Given the description of an element on the screen output the (x, y) to click on. 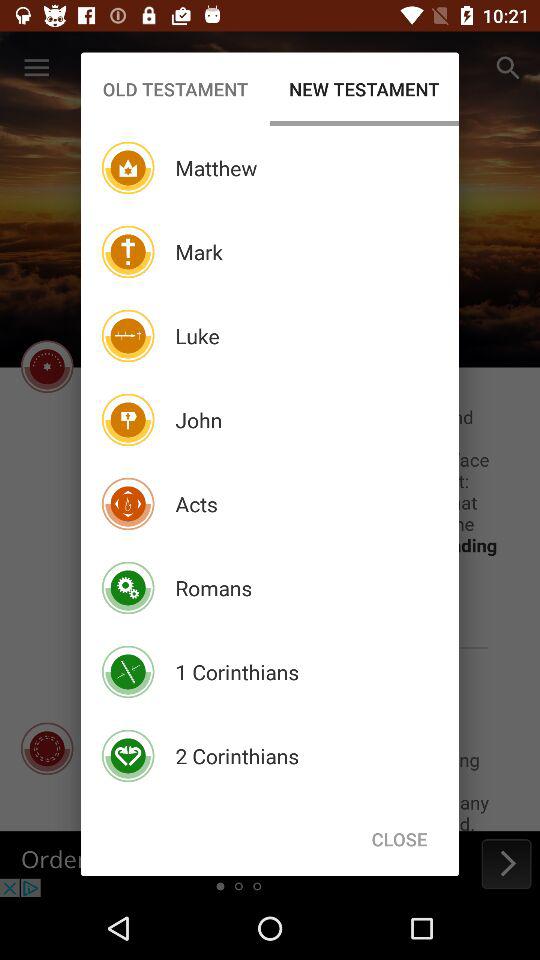
tap icon at the bottom right corner (399, 838)
